Given the description of an element on the screen output the (x, y) to click on. 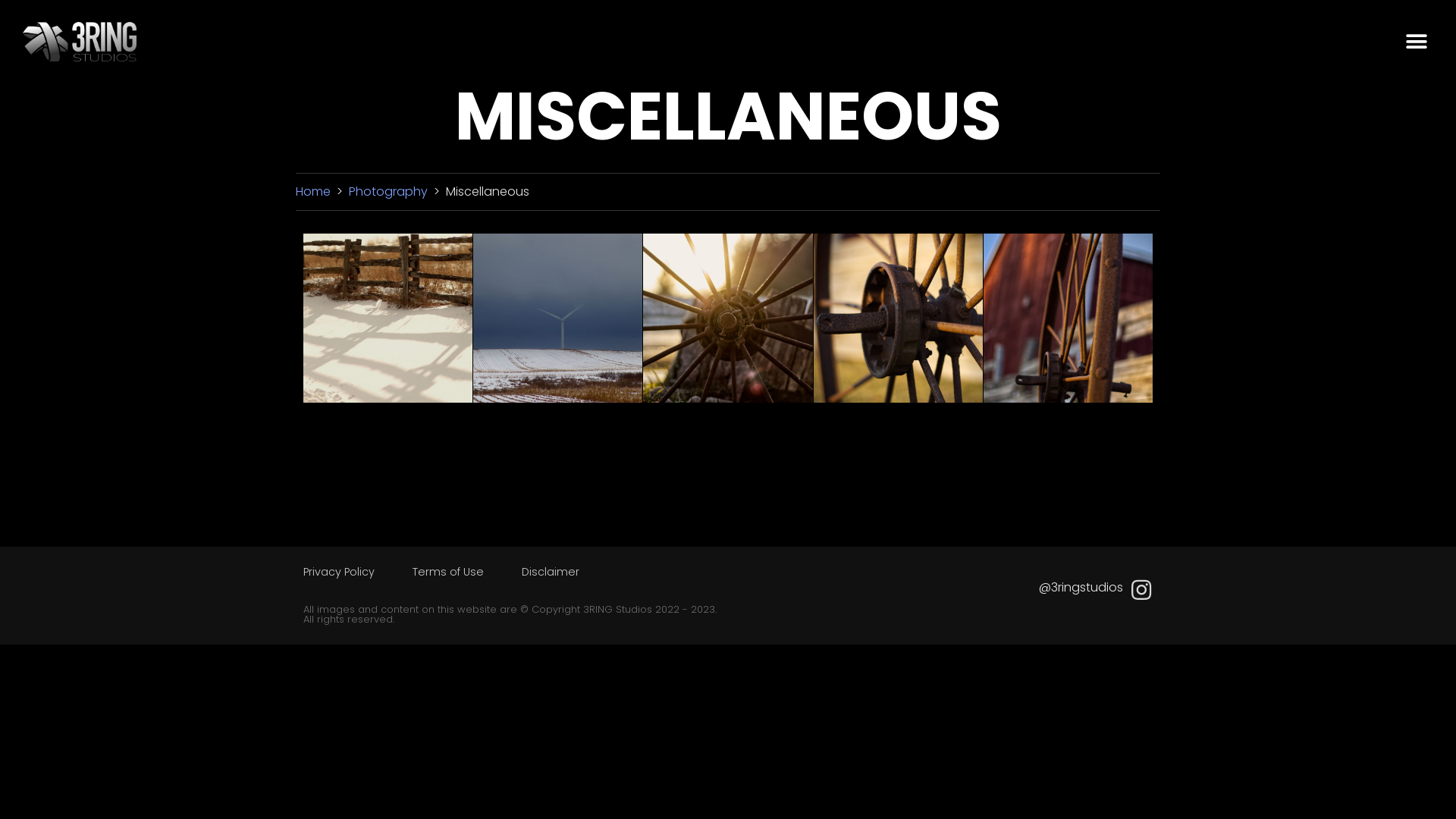
Disclaimer Element type: text (550, 571)
Privacy Policy Element type: text (338, 571)
Terms of Use Element type: text (447, 571)
Home Element type: text (312, 191)
@3ringstudios Element type: text (1080, 587)
Photography Element type: text (389, 191)
